Given the description of an element on the screen output the (x, y) to click on. 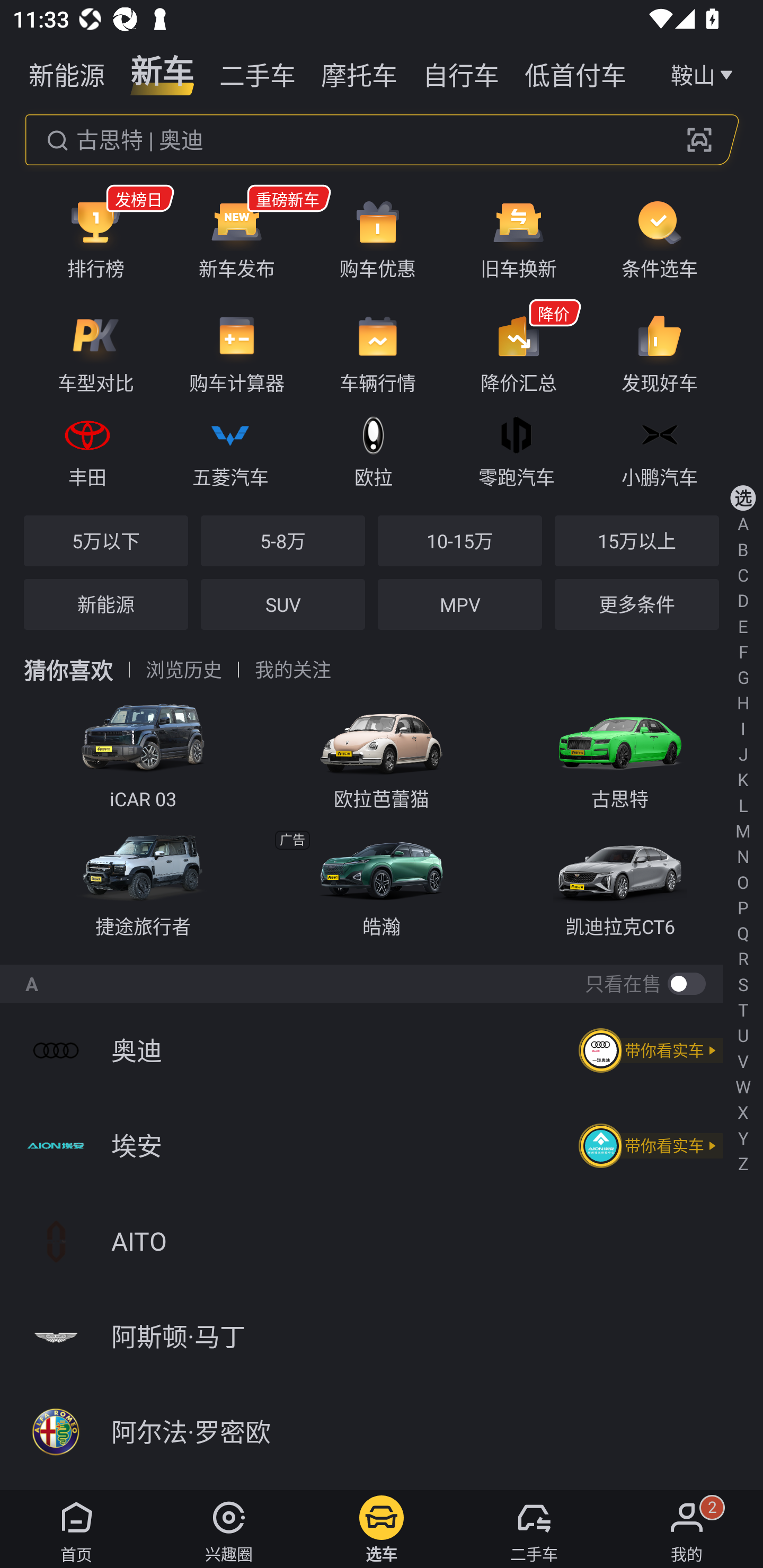
新能源 (66, 72)
新车 (161, 72)
二手车 (257, 72)
摩托车 (359, 72)
自行车 (460, 72)
低首付车 (575, 72)
鞍山 (703, 72)
发榜日 排行榜 (95, 238)
重磅新车 新车发布 (236, 238)
购车优惠 (377, 238)
旧车换新 (518, 238)
条件选车 (659, 238)
车型对比 (95, 352)
购车计算器 (236, 352)
车辆行情 (377, 352)
降价 降价汇总 (518, 352)
发现好车 (659, 352)
丰田 (87, 449)
五菱汽车 (230, 449)
欧拉 (373, 449)
零跑汽车 (516, 449)
小鹏汽车 (659, 449)
5万以下 (105, 540)
5-8万 (282, 540)
10-15万 (459, 540)
15万以上 (636, 540)
新能源 (105, 604)
SUV (282, 604)
MPV (459, 604)
更多条件 (636, 604)
猜你喜欢 (67, 669)
浏览历史 (183, 669)
我的关注 (292, 669)
iCAR 03 (142, 750)
欧拉芭蕾猫 (381, 750)
古思特 (619, 750)
捷途旅行者 (142, 881)
皓瀚 广告 (381, 881)
凯迪拉克CT6 (619, 881)
奥迪 带你看实车  (381, 1050)
带你看实车  (649, 1050)
埃安 带你看实车  (381, 1145)
带你看实车  (649, 1146)
AITO (381, 1240)
阿斯顿·马丁 (381, 1336)
阿尔法·罗密欧 (381, 1432)
 首页 (76, 1528)
 兴趣圈 (228, 1528)
选车 (381, 1528)
 二手车 (533, 1528)
 我的 (686, 1528)
